Given the description of an element on the screen output the (x, y) to click on. 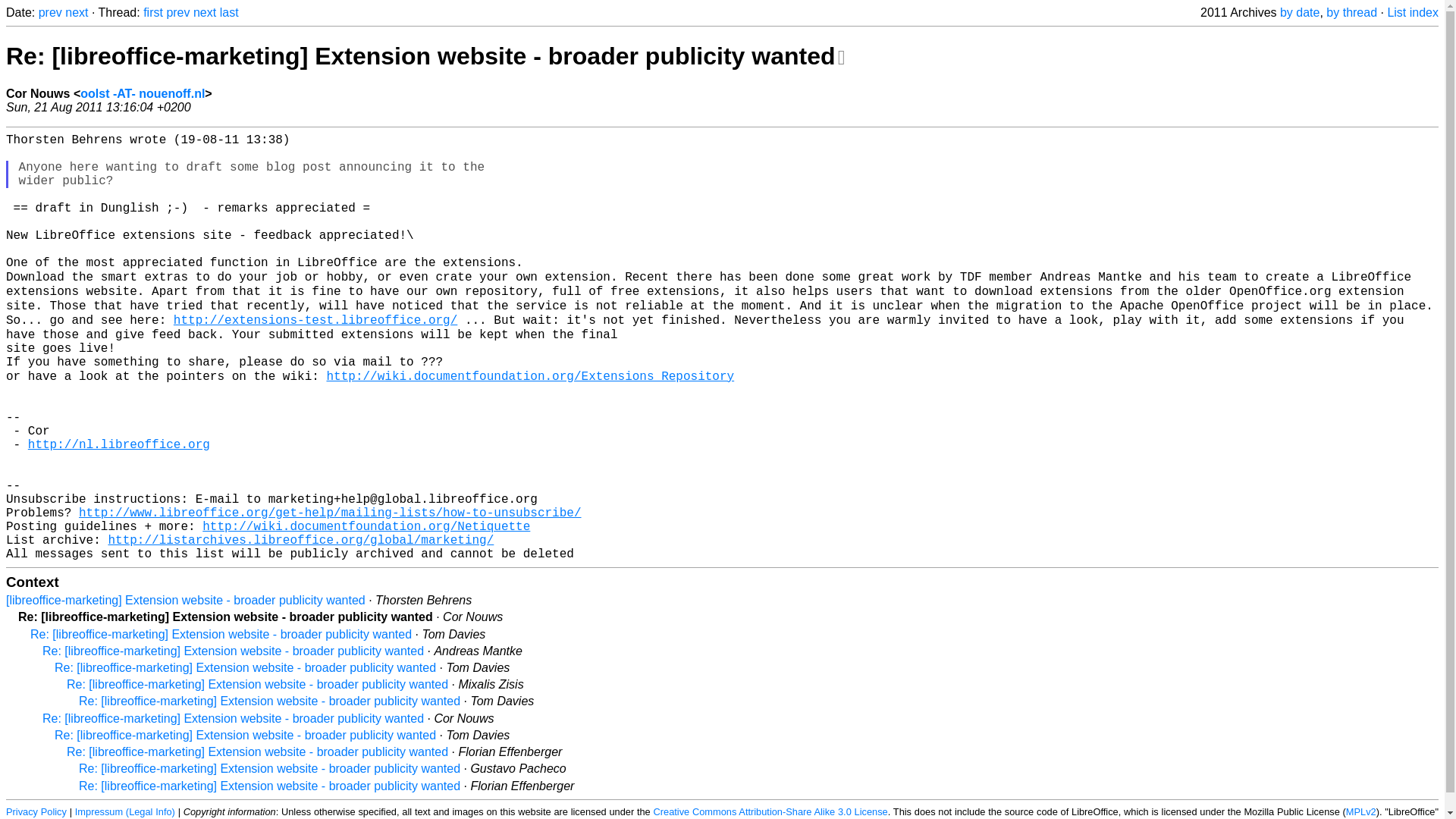
first (152, 11)
prev (177, 11)
next (76, 11)
prev (50, 11)
by thread (1351, 11)
next (204, 11)
Privacy Policy (35, 810)
by date (1299, 11)
last (228, 11)
MPLv2 (1360, 810)
